Given the description of an element on the screen output the (x, y) to click on. 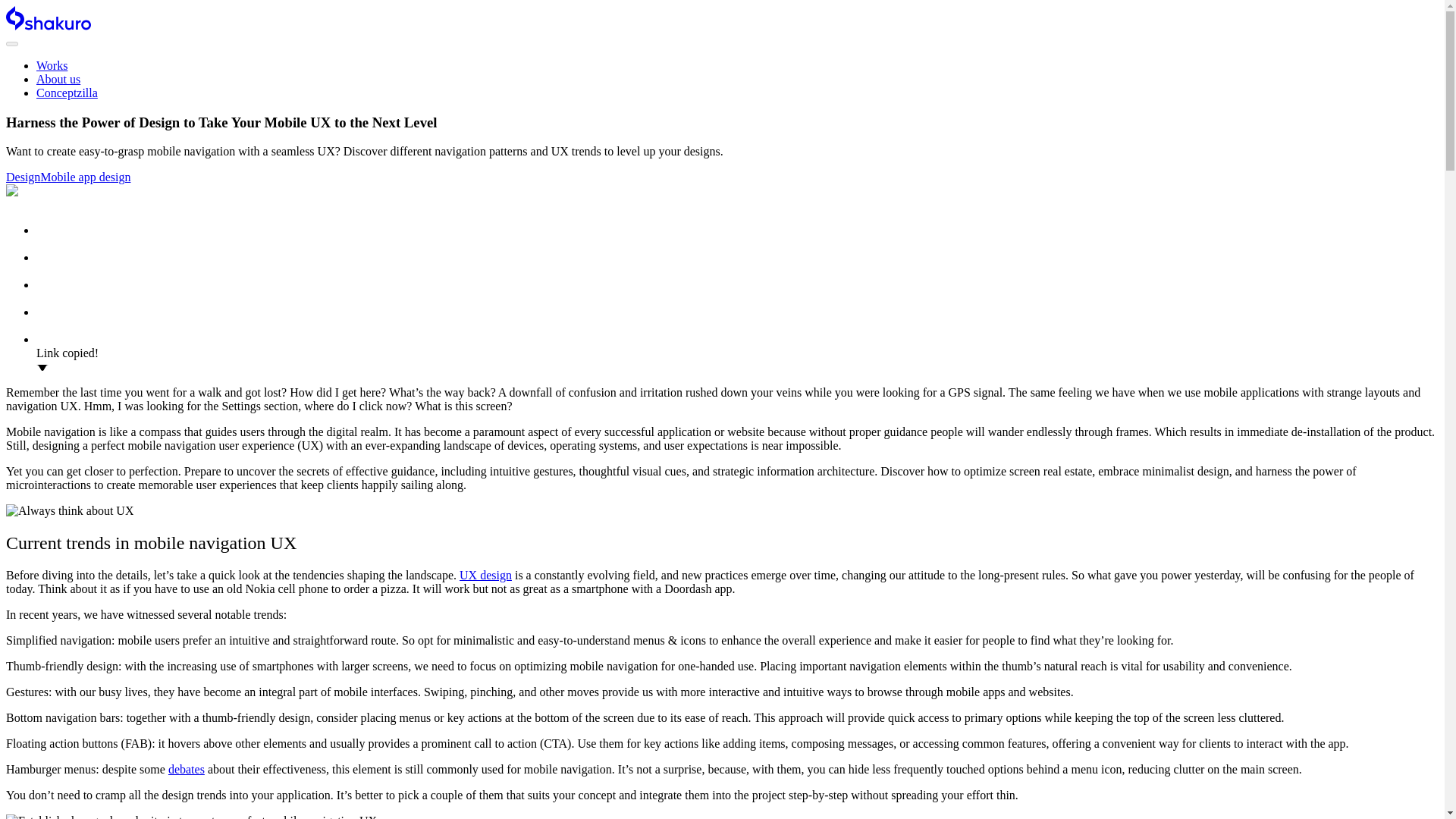
About us (58, 78)
debates (186, 768)
Design (22, 176)
Works (51, 65)
Conceptzilla (66, 92)
Mobile app design (85, 176)
UX design (486, 574)
